Given the description of an element on the screen output the (x, y) to click on. 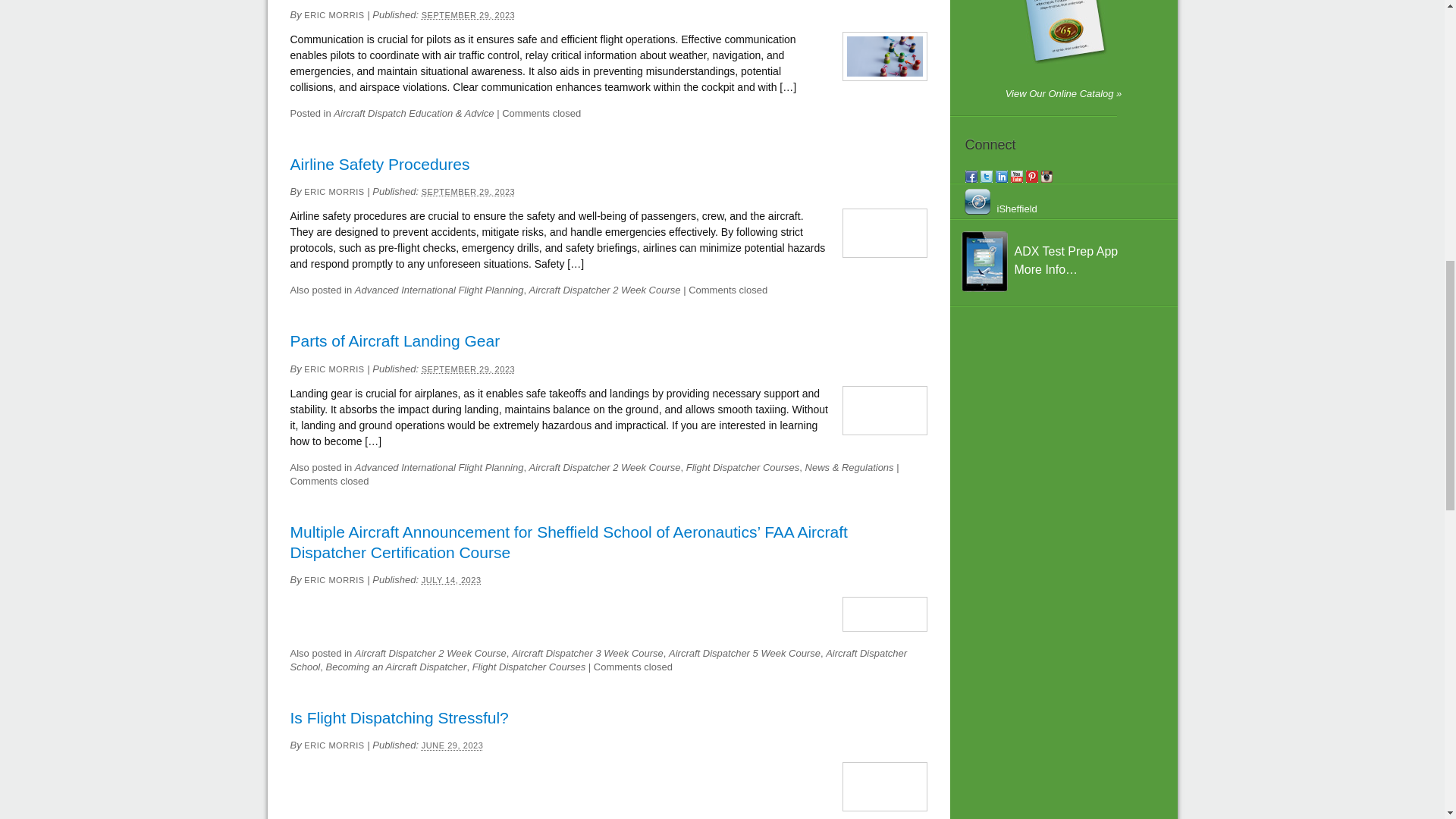
View all posts by Eric Morris (334, 14)
2023-09-29T11:45:31-0400 (468, 14)
